Given the description of an element on the screen output the (x, y) to click on. 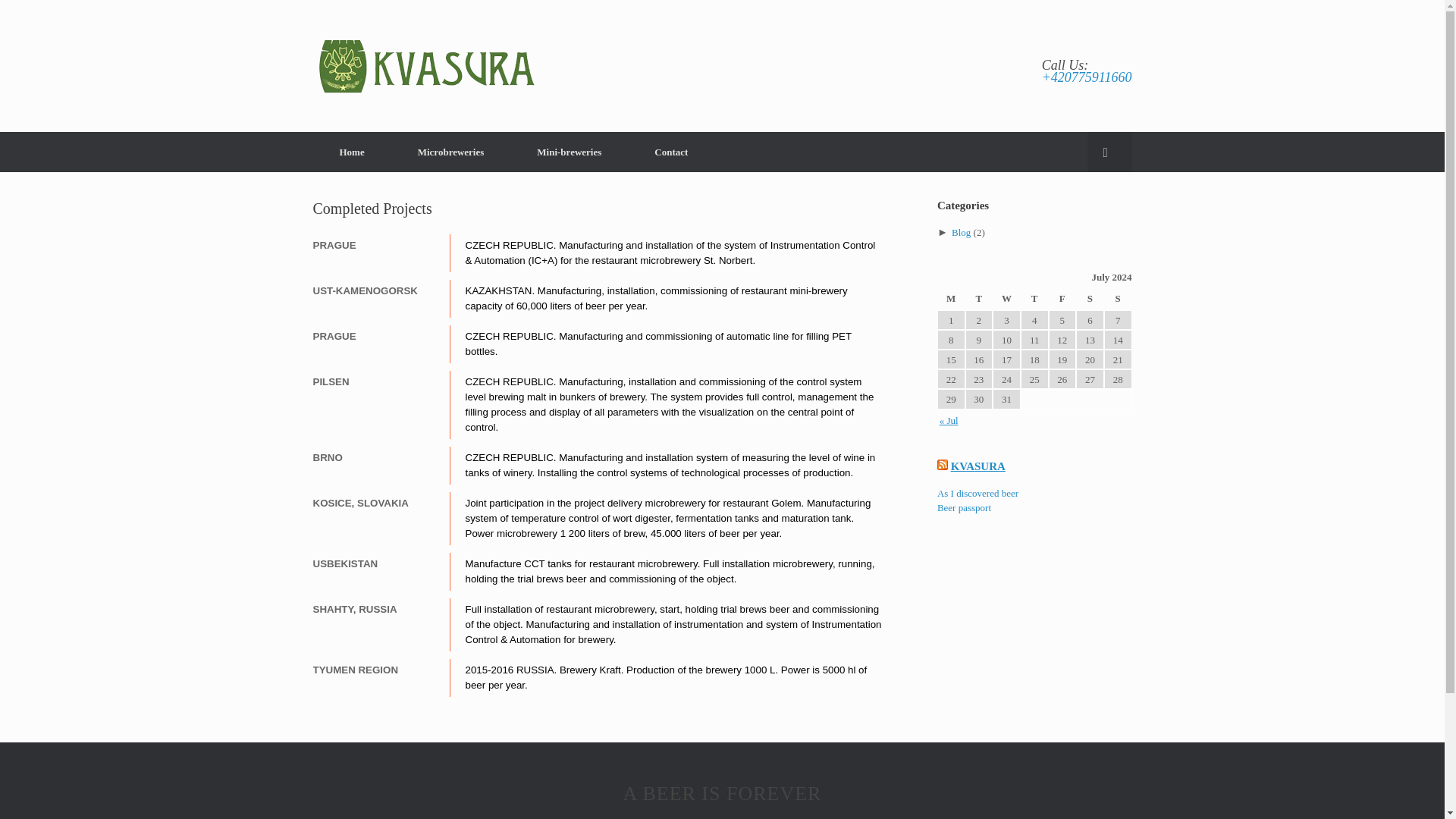
KVASURA (426, 65)
Monday (951, 299)
Sunday (1117, 299)
Wednesday (1006, 299)
Mini-breweries (569, 151)
Friday (1061, 299)
Home (351, 151)
Saturday (1089, 299)
Thursday (1034, 299)
Microbreweries (451, 151)
View all posts filed under Blog (961, 231)
Tuesday (978, 299)
